Given the description of an element on the screen output the (x, y) to click on. 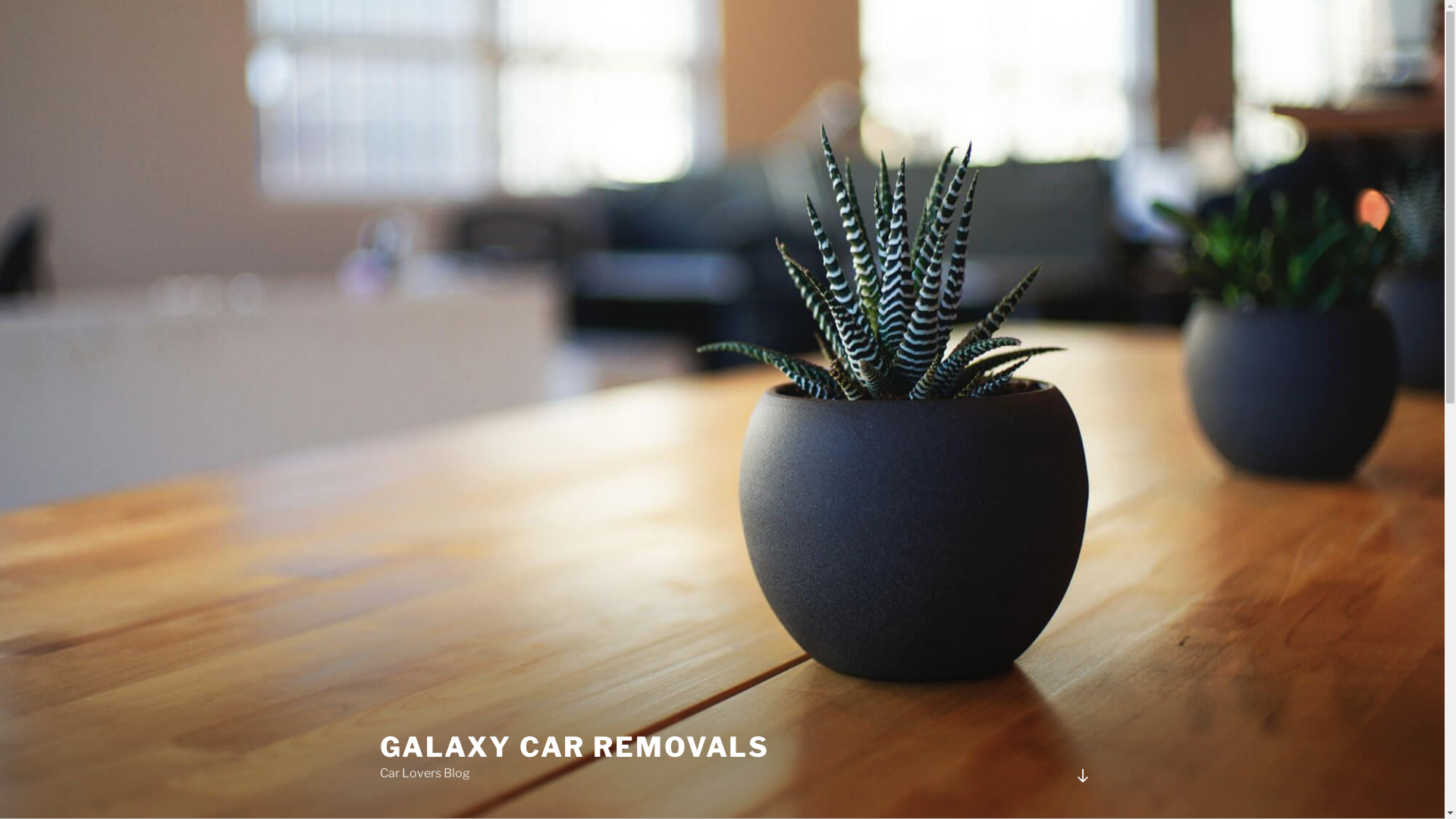
Scroll down to content Element type: text (1082, 775)
GALAXY CAR REMOVALS Element type: text (574, 746)
Skip to content Element type: text (0, 0)
